Given the description of an element on the screen output the (x, y) to click on. 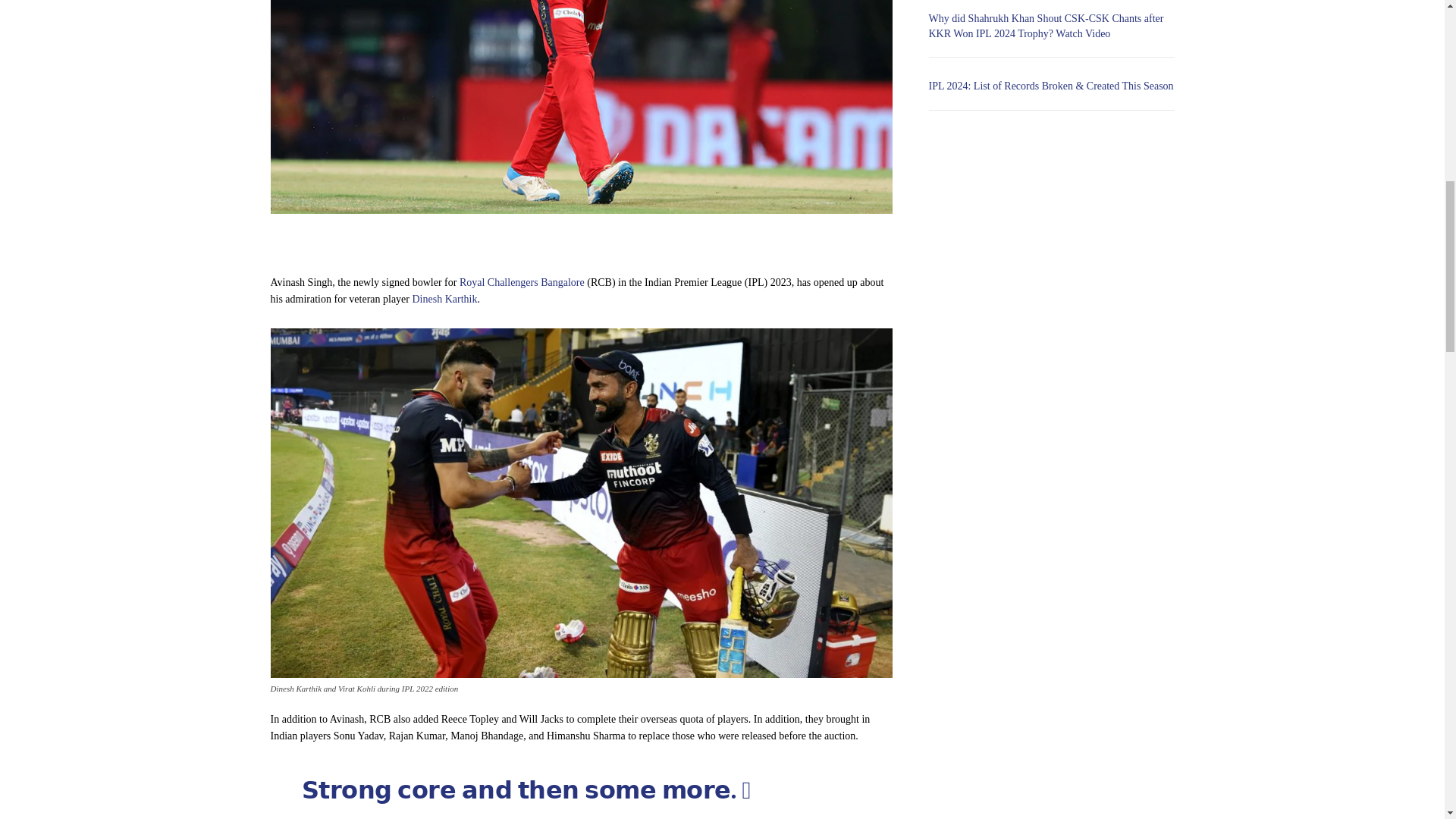
DK (580, 106)
